Given the description of an element on the screen output the (x, y) to click on. 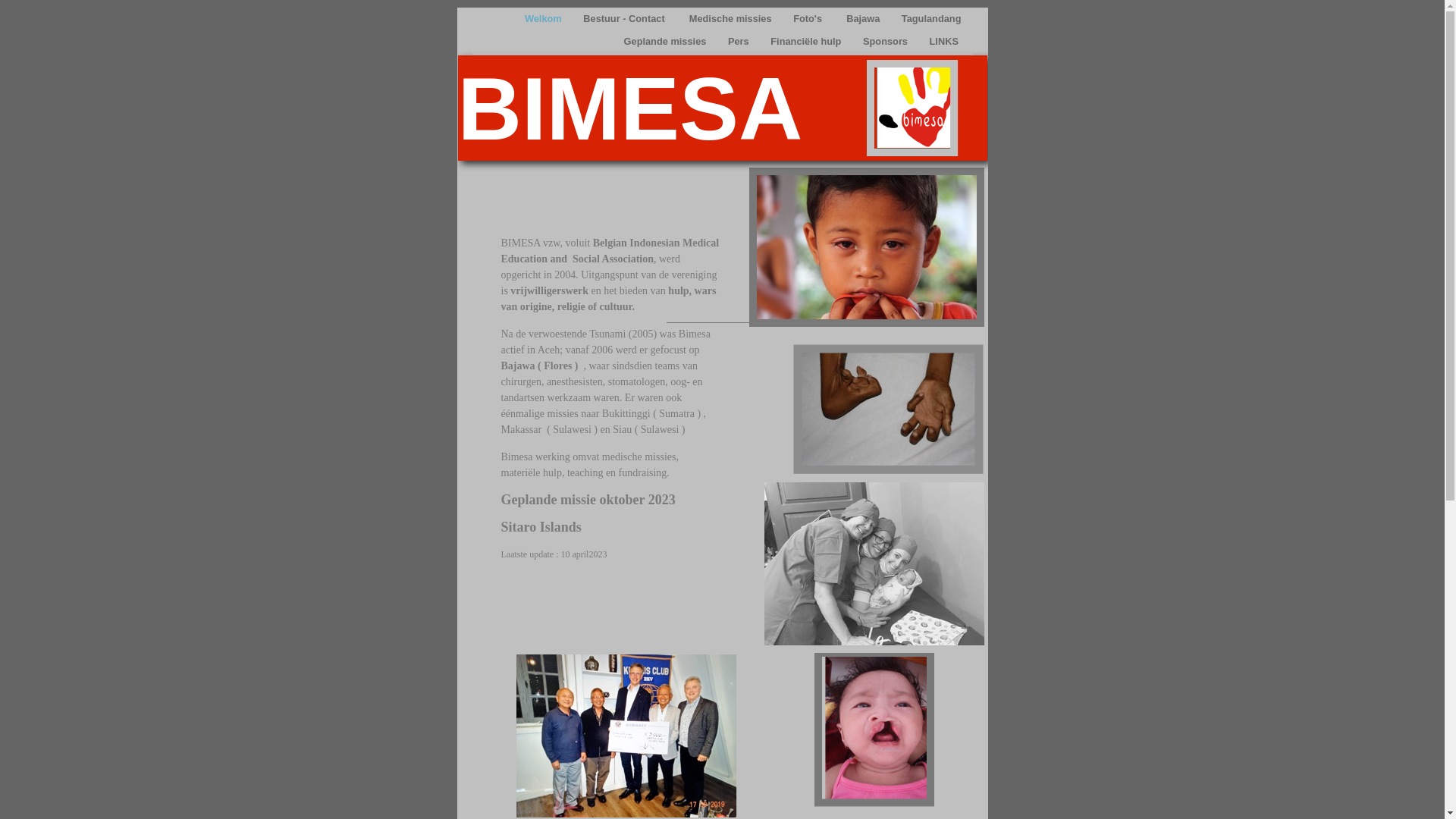
Sponsors Element type: text (886, 41)
Foto's  Element type: text (809, 18)
Pers Element type: text (739, 41)
Geplande missies Element type: text (666, 41)
Welkom Element type: text (544, 18)
Bajawa Element type: text (864, 18)
Bestuur - Contact  Element type: text (626, 18)
Medische missies Element type: text (731, 18)
Tagulandang Element type: text (931, 18)
LINKS  Element type: text (945, 41)
